Given the description of an element on the screen output the (x, y) to click on. 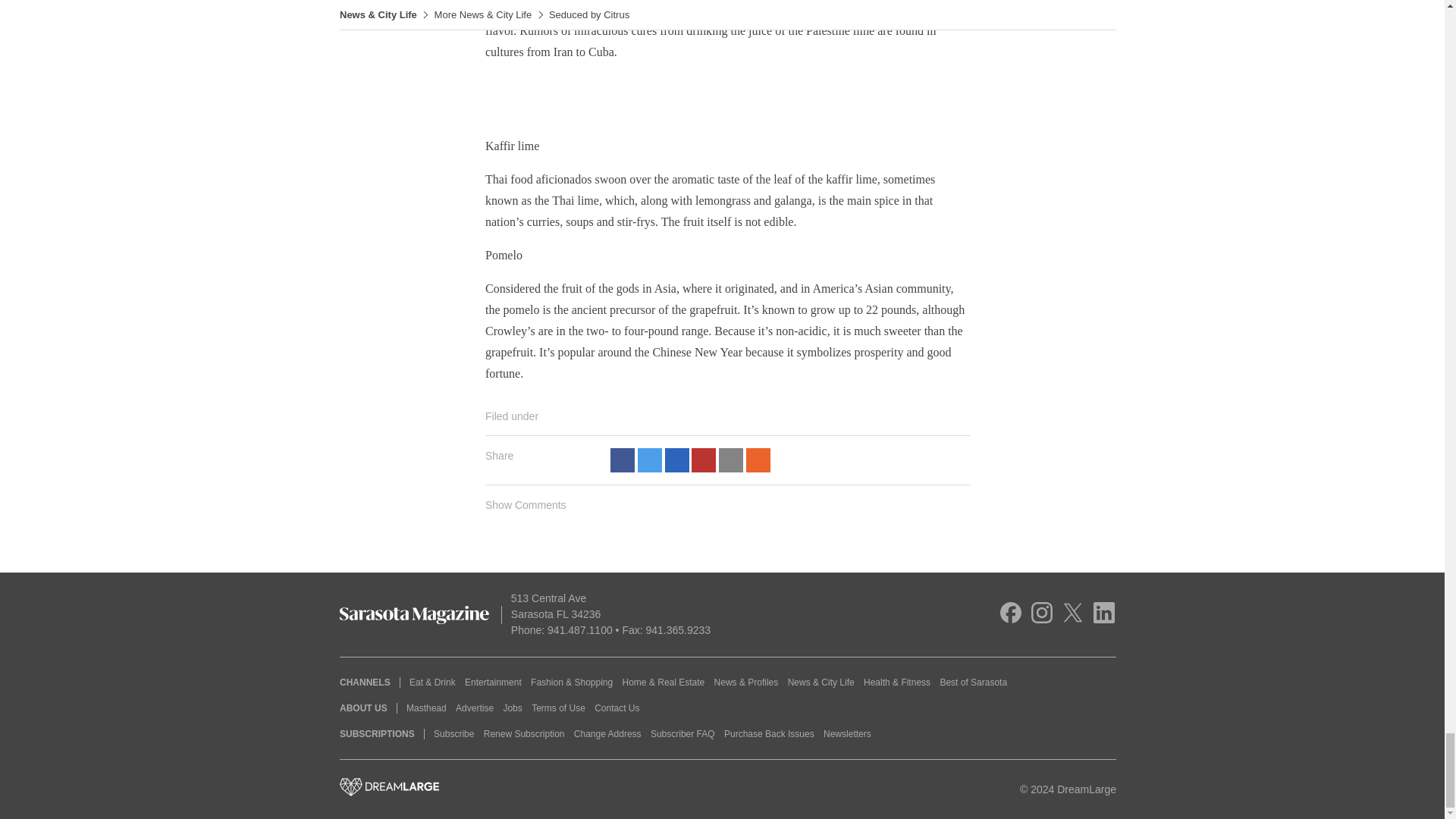
Share on Reddit (757, 459)
Share via Email (730, 459)
Share on LinkedIn (675, 459)
Share on Pinterest (703, 459)
Share on Facebook (622, 459)
Share on Twitter (649, 459)
